Given the description of an element on the screen output the (x, y) to click on. 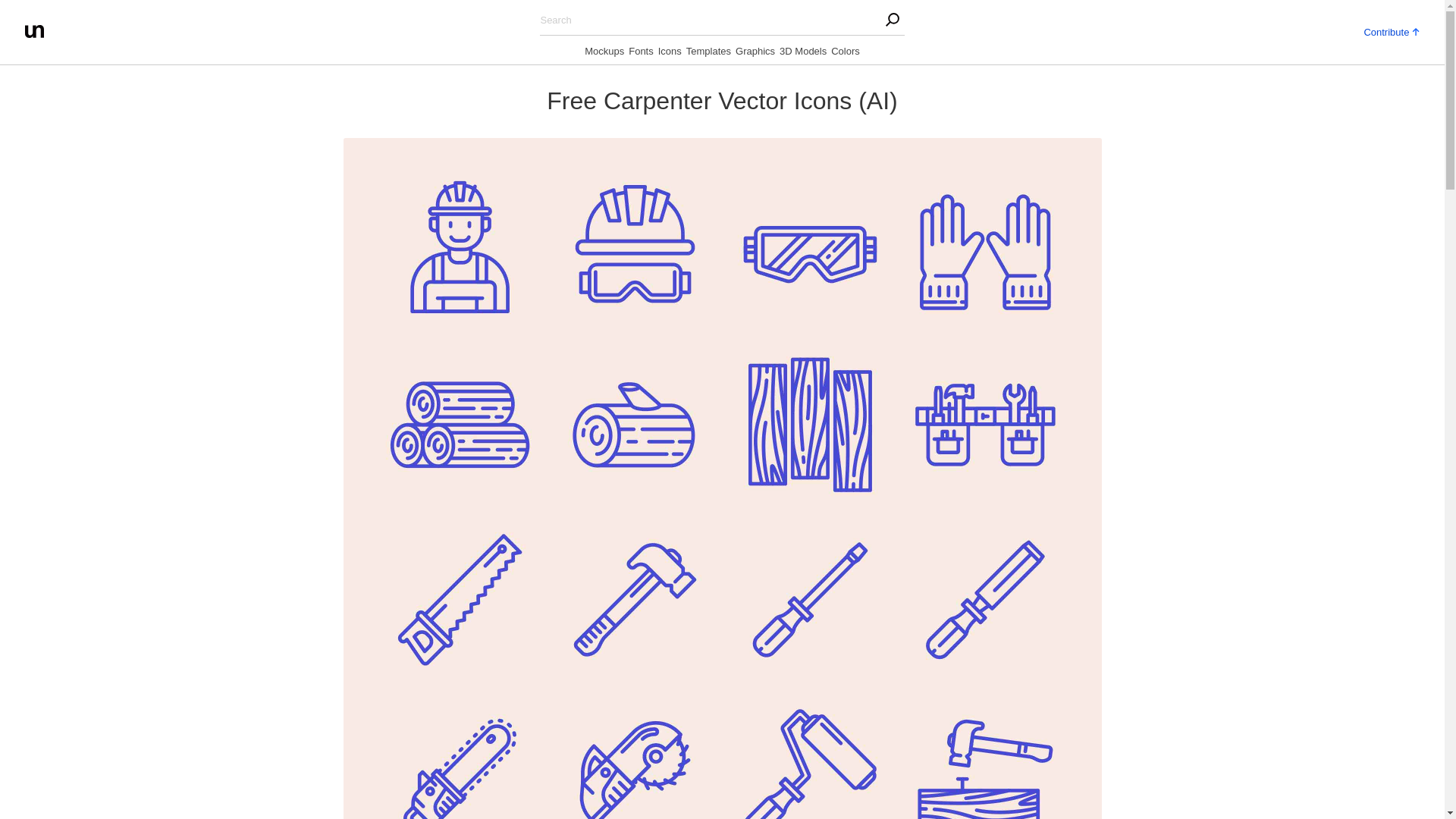
Graphics (754, 53)
Search (303, 15)
Fonts (640, 53)
Templates (707, 53)
Mockups (604, 53)
3D Models (802, 53)
Colors (845, 53)
Icons (669, 53)
Contribute (1390, 30)
